Given the description of an element on the screen output the (x, y) to click on. 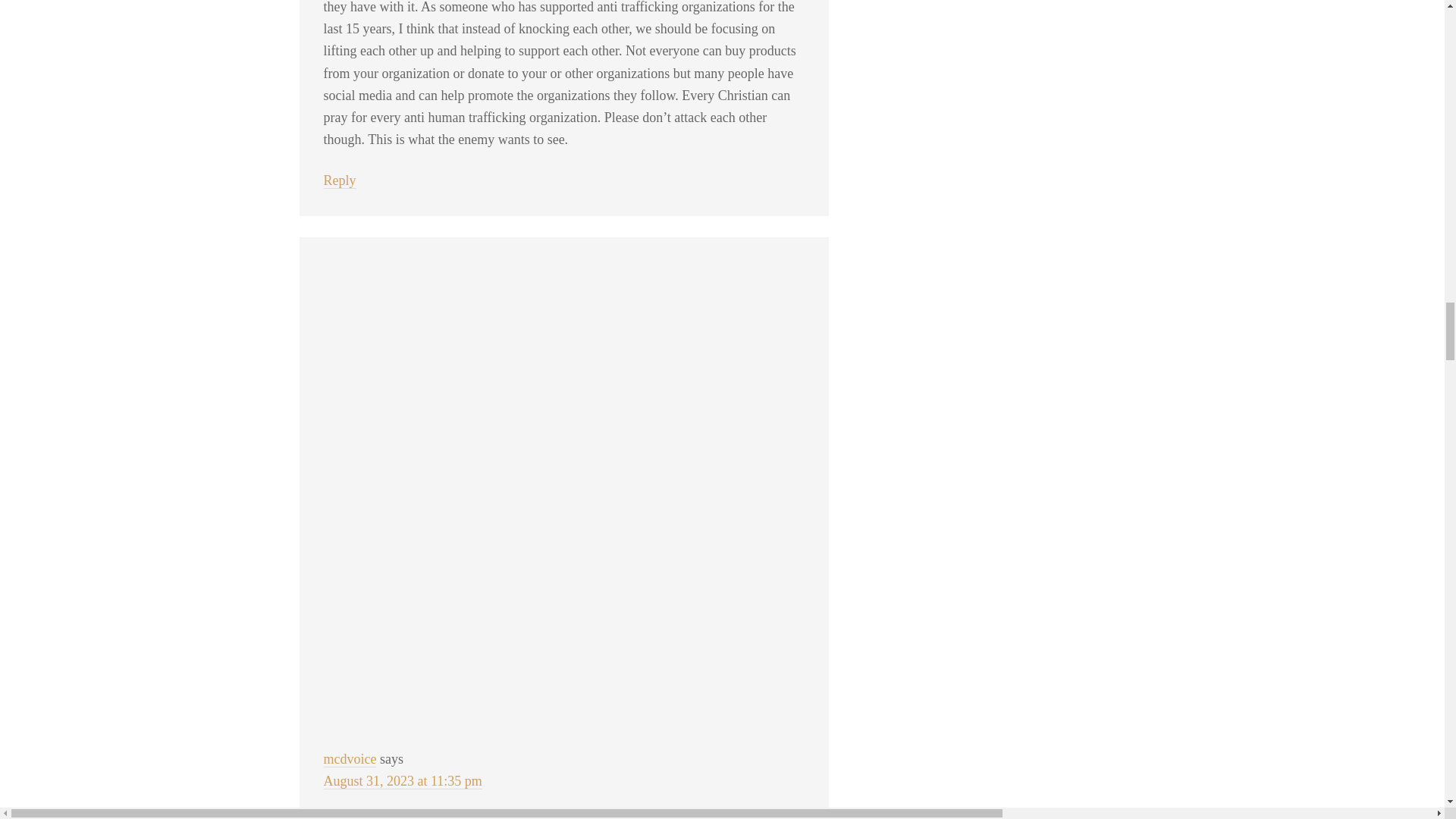
Reply (339, 180)
